Given the description of an element on the screen output the (x, y) to click on. 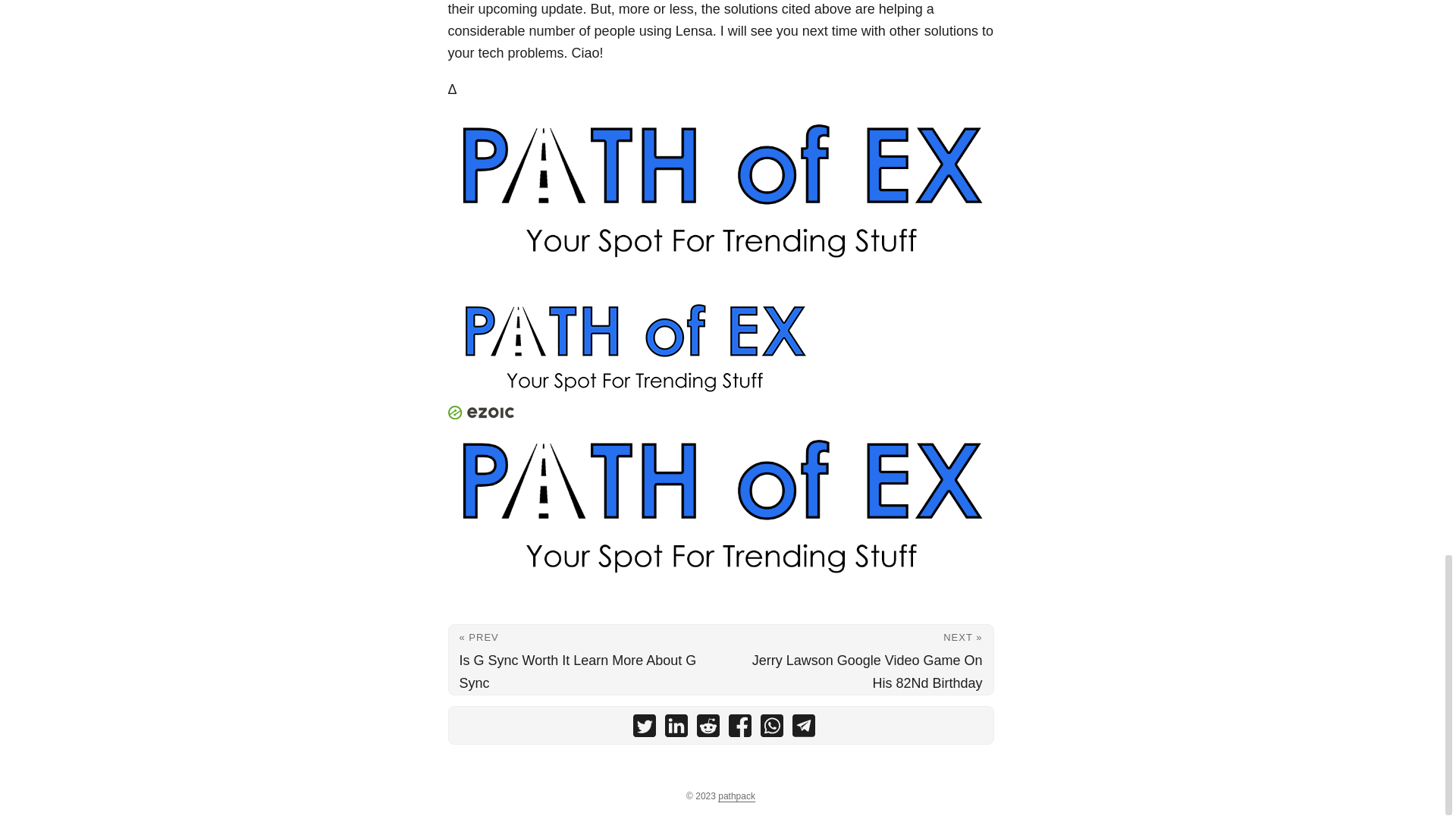
pathpack (736, 796)
